Given the description of an element on the screen output the (x, y) to click on. 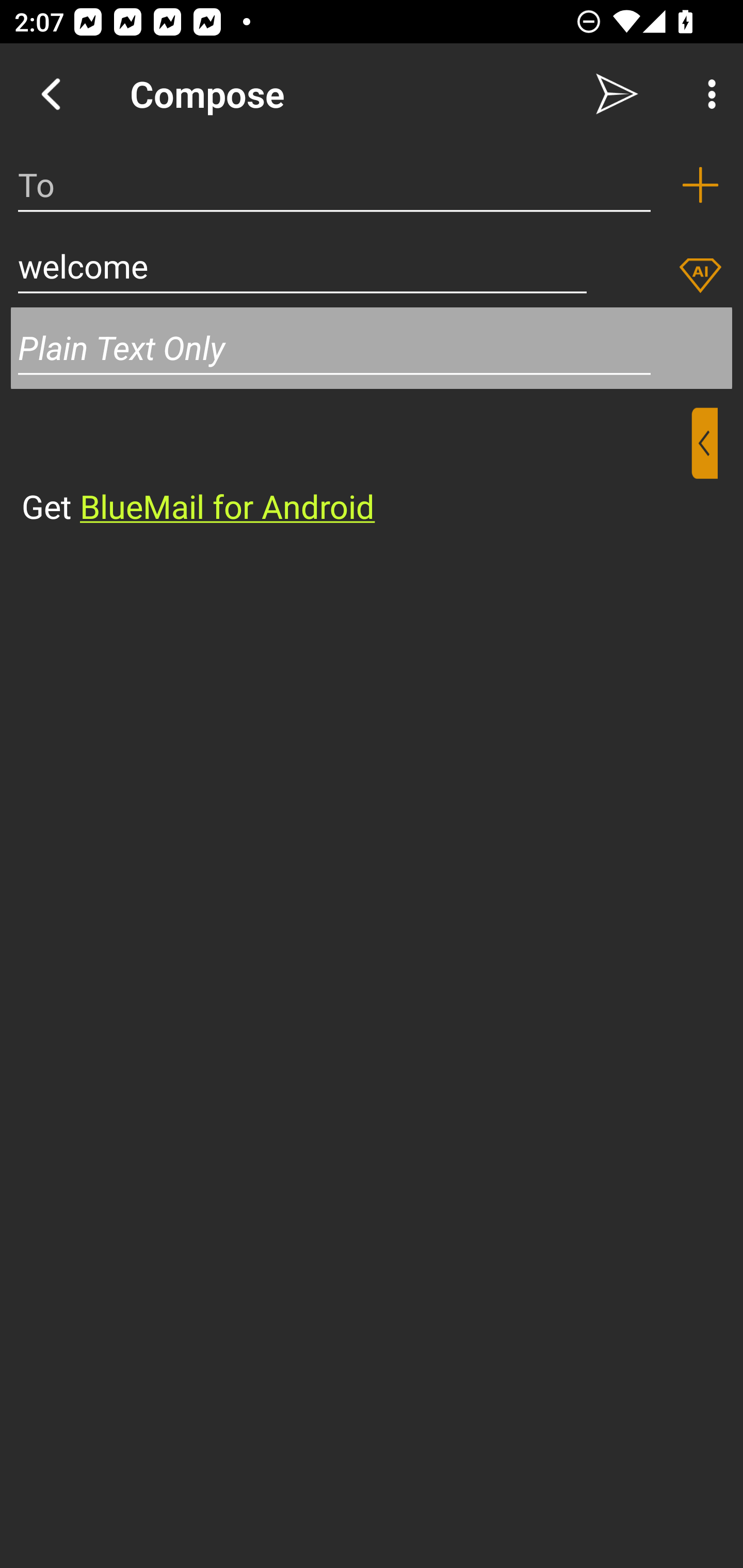
Navigate up (50, 93)
Send (616, 93)
More Options (706, 93)
To (334, 184)
Add recipient (To) (699, 184)
welcome (302, 266)
Plain Text Only (371, 347)


⁣Get BlueMail for Android ​ (355, 468)
